Given the description of an element on the screen output the (x, y) to click on. 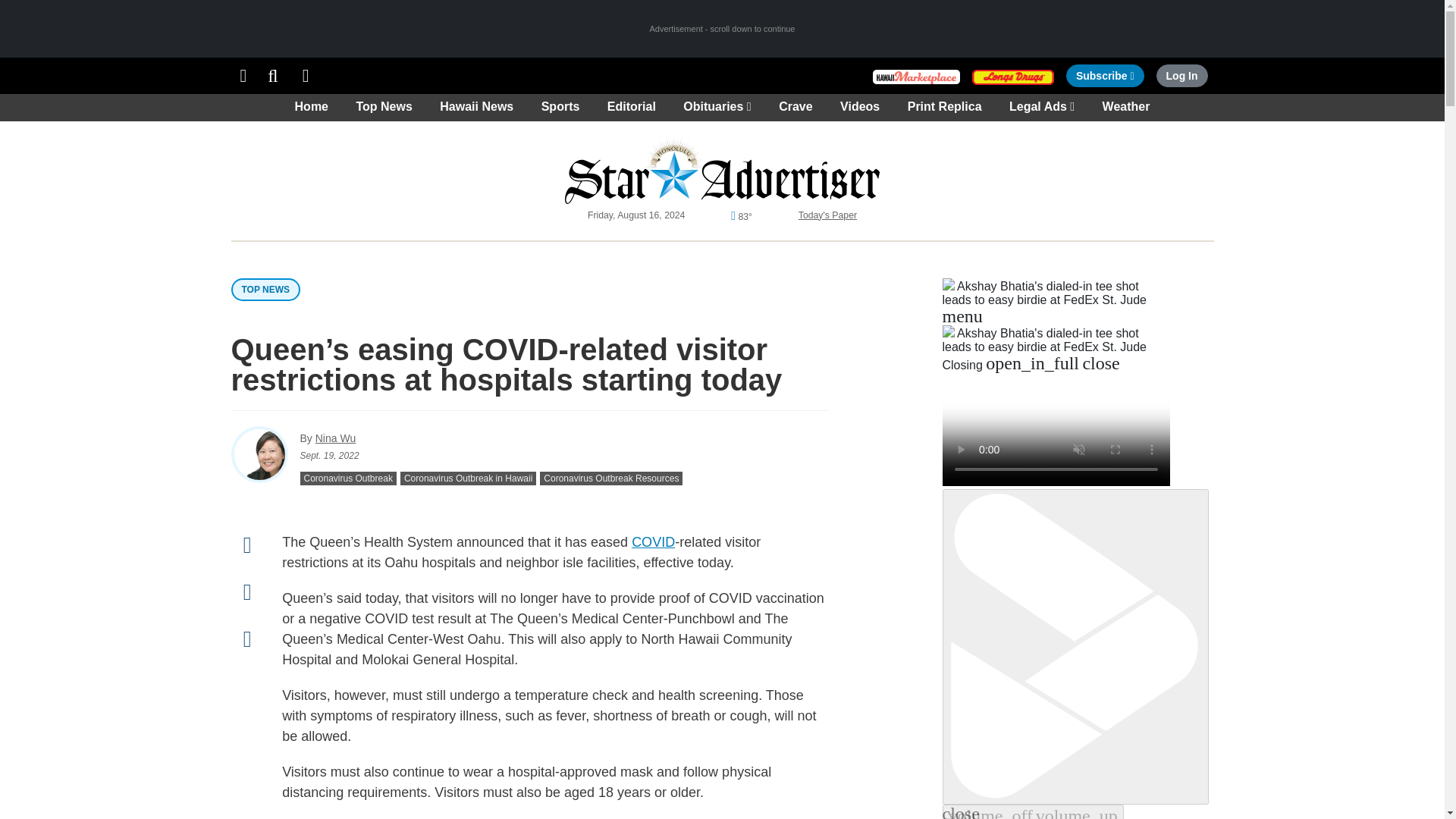
Log In (1182, 75)
Opens in a new tab (1104, 75)
Opens in a new tab (1013, 75)
Search (915, 75)
Sections (272, 75)
Print Replica (243, 75)
Honolulu Star-Advertiser (306, 75)
